Given the description of an element on the screen output the (x, y) to click on. 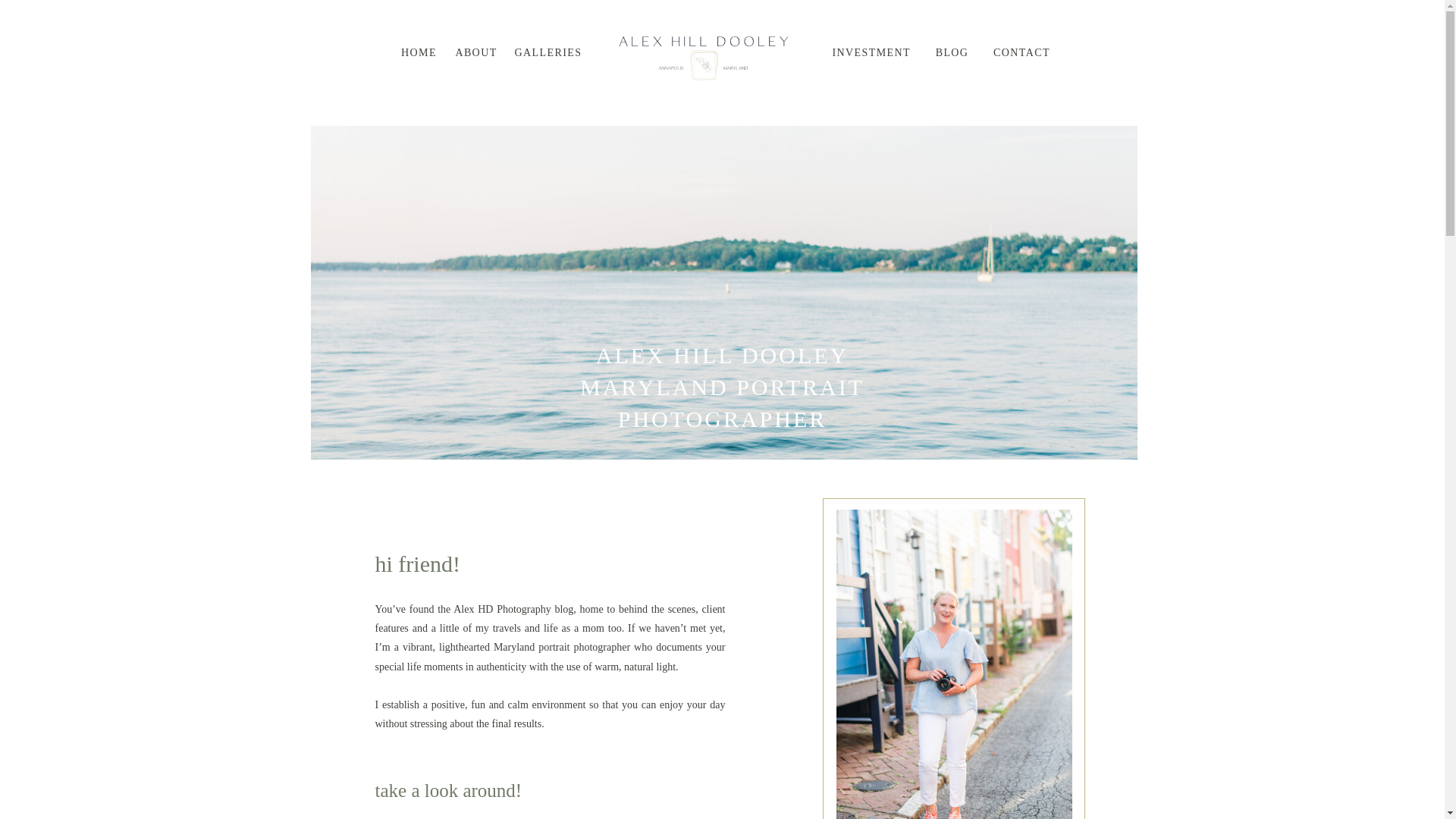
GALLERIES (548, 51)
INVESTMENT (871, 51)
BLOG (952, 51)
CONTACT (1021, 51)
ABOUT (475, 51)
HOME (418, 51)
